Given the description of an element on the screen output the (x, y) to click on. 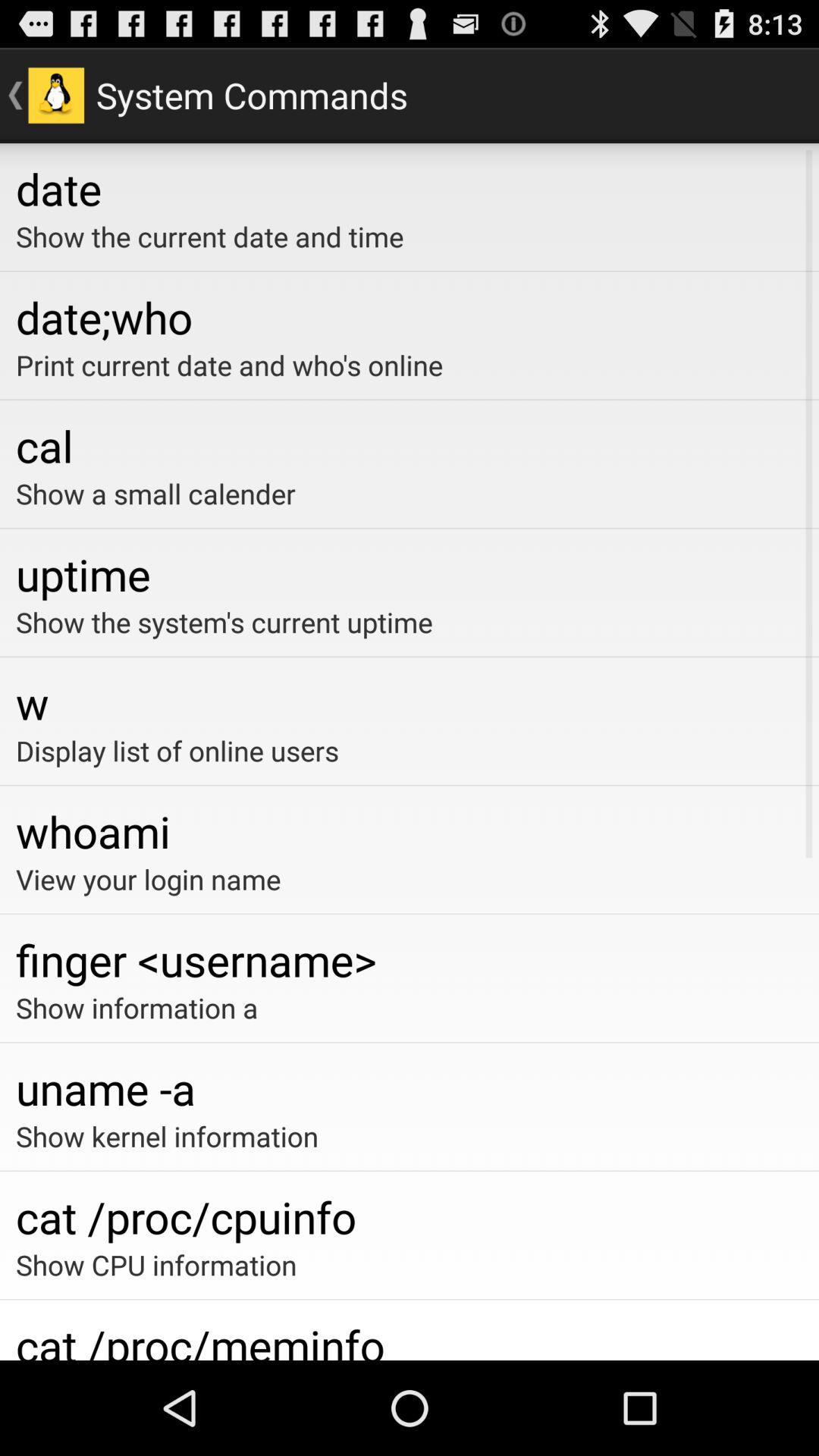
click the uname -a item (409, 1088)
